Given the description of an element on the screen output the (x, y) to click on. 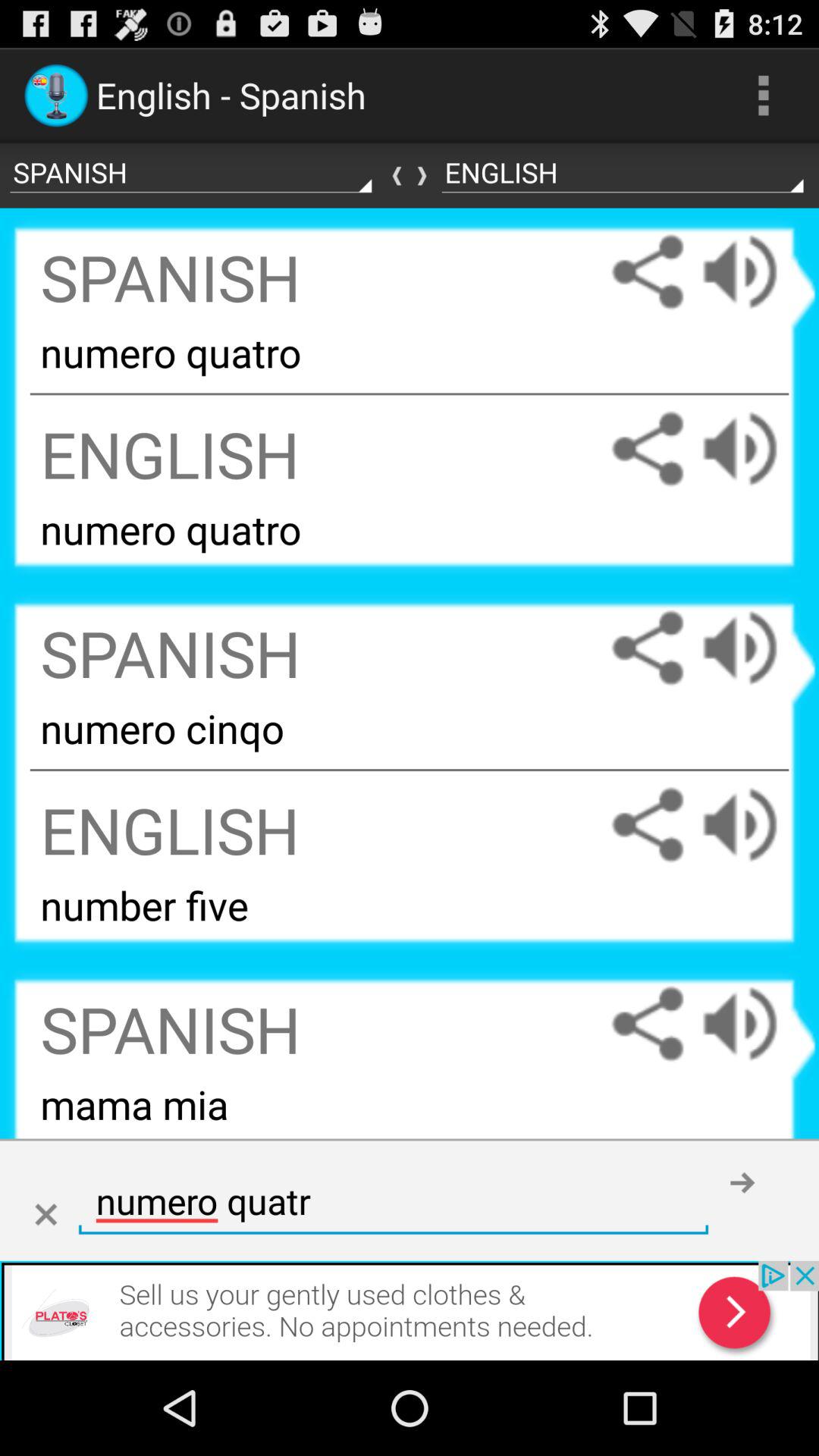
sound on/off (754, 1023)
